Given the description of an element on the screen output the (x, y) to click on. 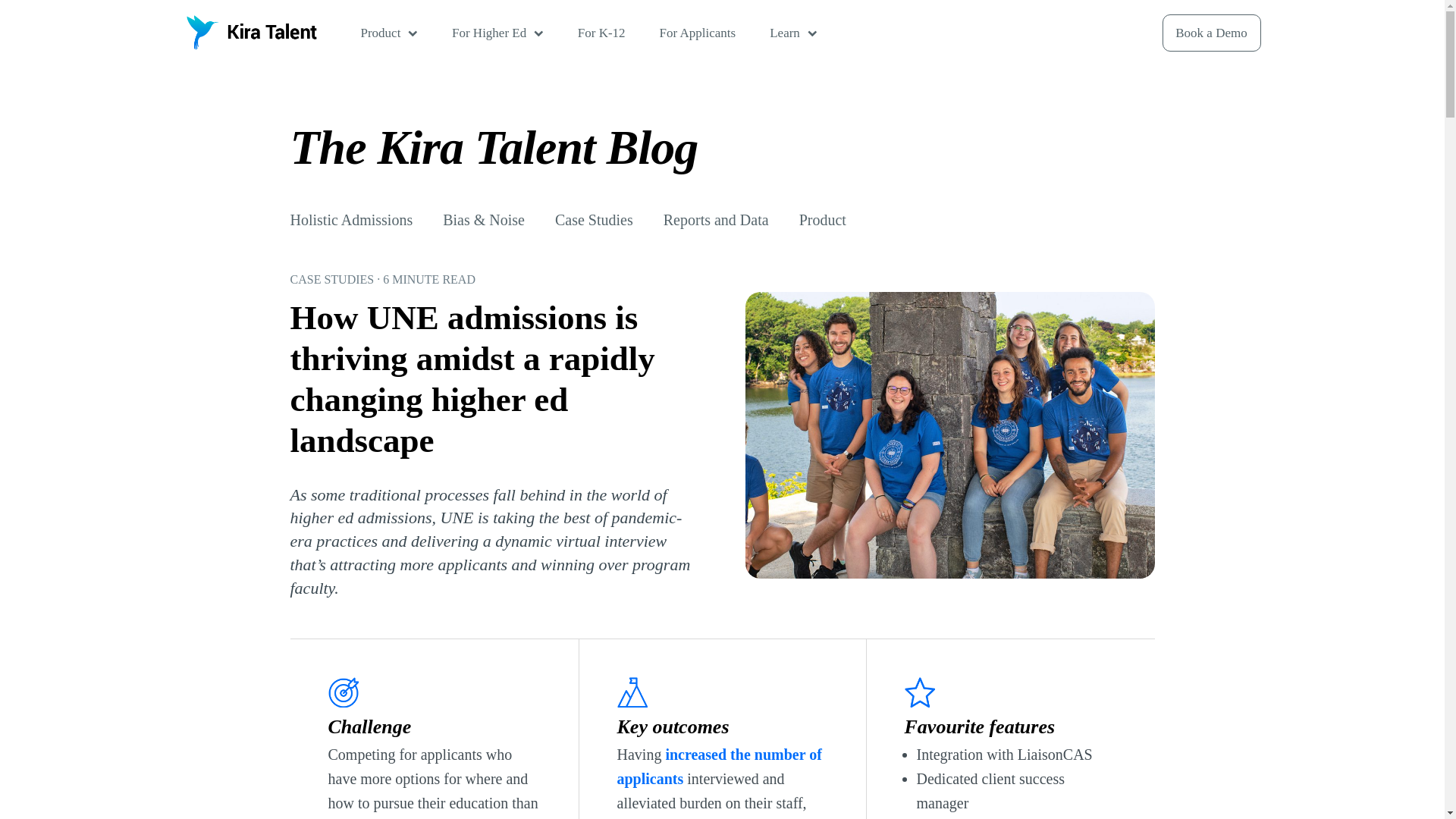
Product (391, 32)
For Applicants (700, 32)
For K-12 (603, 32)
For Higher Ed (499, 32)
Book a Demo (1210, 32)
Learn (794, 32)
